Given the description of an element on the screen output the (x, y) to click on. 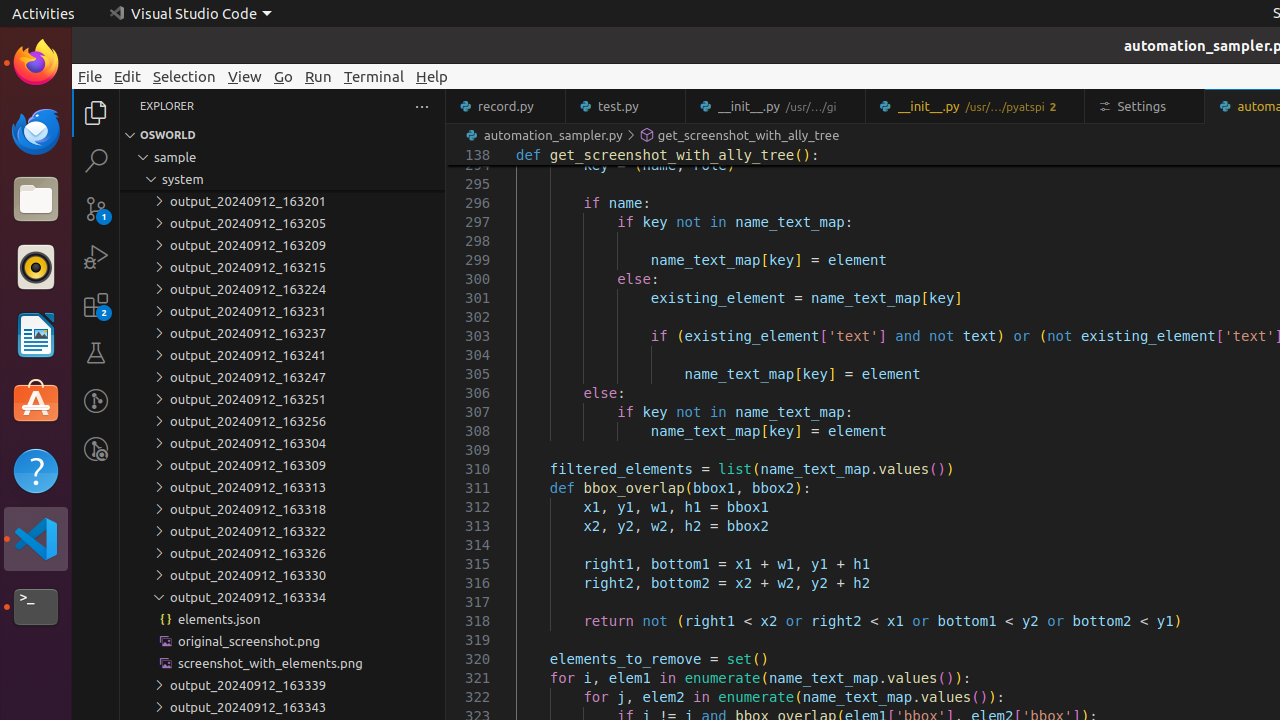
Firefox Web Browser Element type: push-button (36, 63)
output_20240912_163309 Element type: tree-item (282, 465)
Terminal Element type: push-button (36, 607)
output_20240912_163322 Element type: tree-item (282, 531)
